Given the description of an element on the screen output the (x, y) to click on. 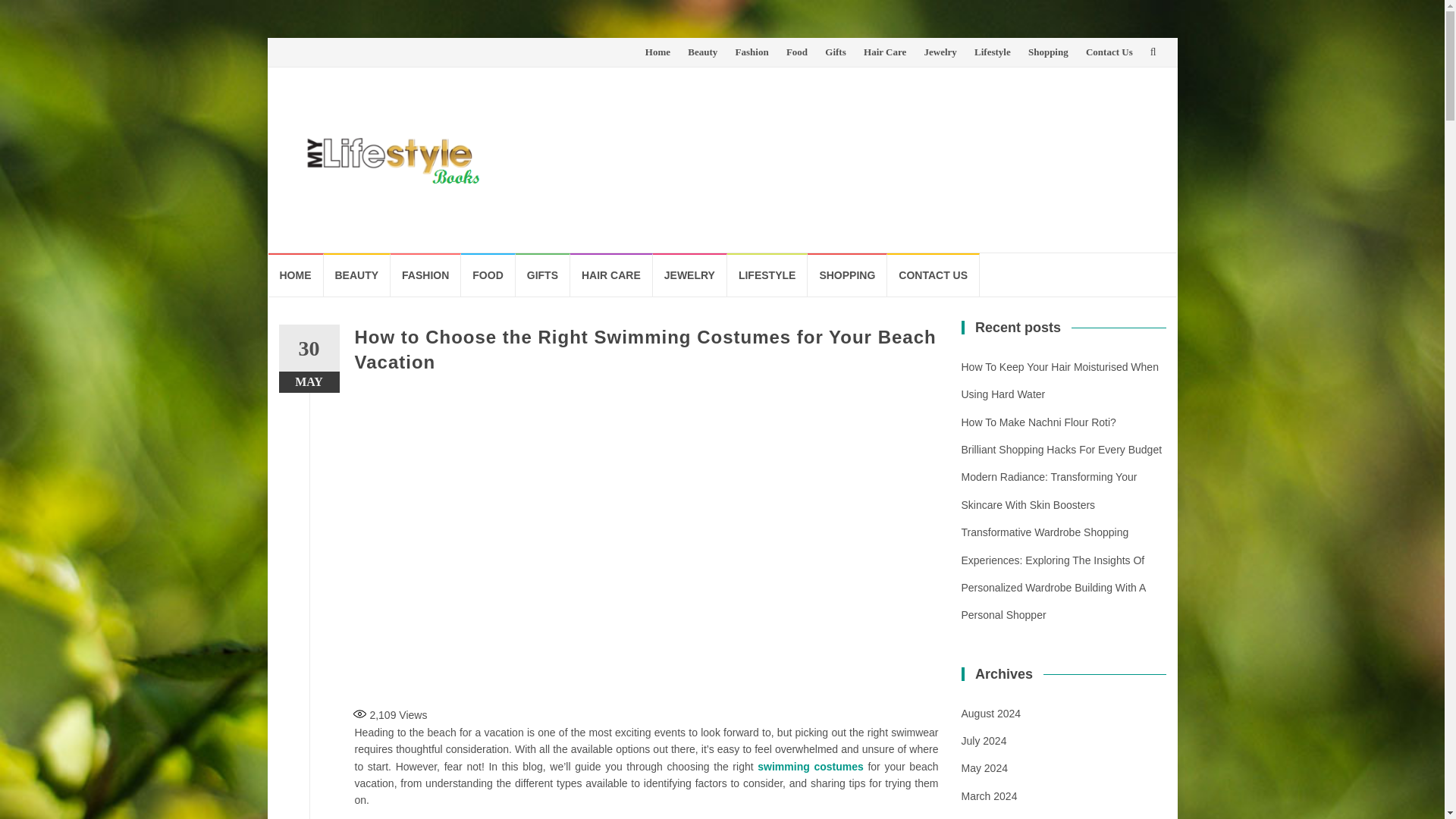
FASHION (425, 274)
HOME (295, 274)
LIFESTYLE (767, 274)
Contact Us (1109, 51)
Lifestyle (992, 51)
Food (797, 51)
swimming costumes (810, 766)
Jewelry (939, 51)
CONTACT US (932, 274)
GIFTS (542, 274)
